Given the description of an element on the screen output the (x, y) to click on. 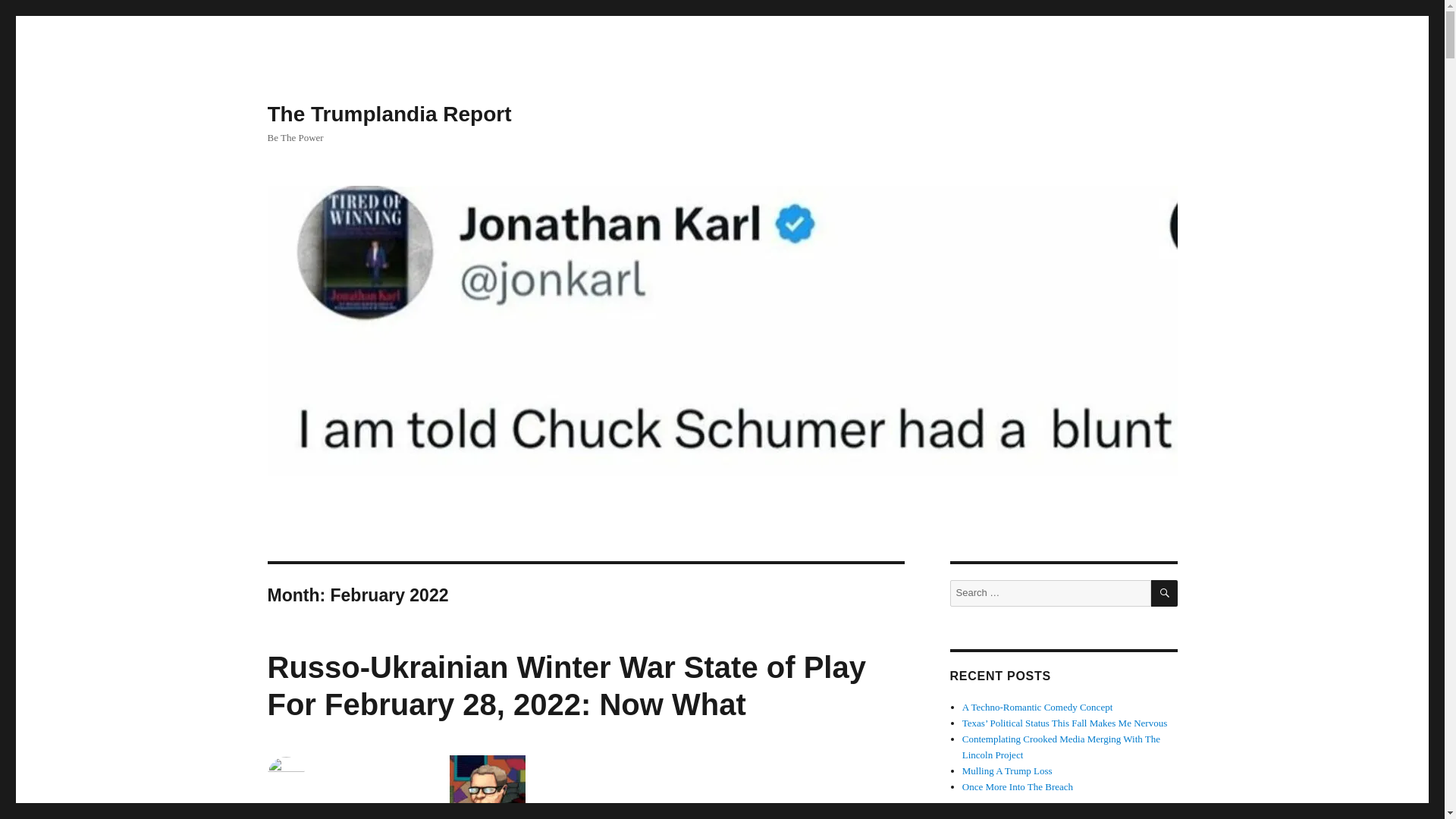
The Trumplandia Report (388, 114)
Shelton Bumgarner (309, 806)
